Given the description of an element on the screen output the (x, y) to click on. 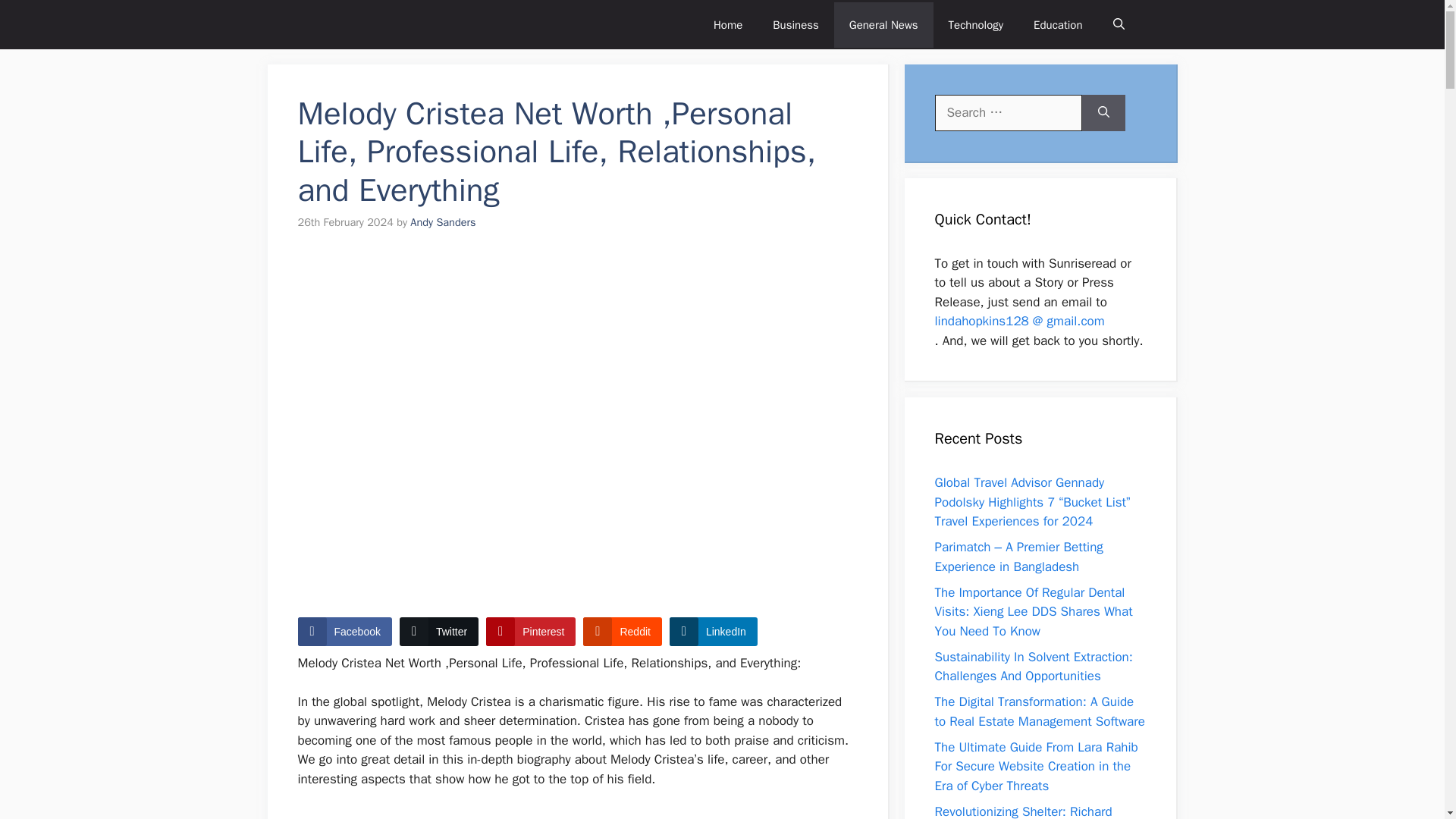
LinkedIn (713, 631)
Twitter (438, 631)
Reddit (622, 631)
Home (727, 23)
Education (1057, 23)
Technology (976, 23)
Facebook (344, 631)
View all posts by Andy Sanders (443, 222)
Business (795, 23)
Sunriseread (355, 24)
